Given the description of an element on the screen output the (x, y) to click on. 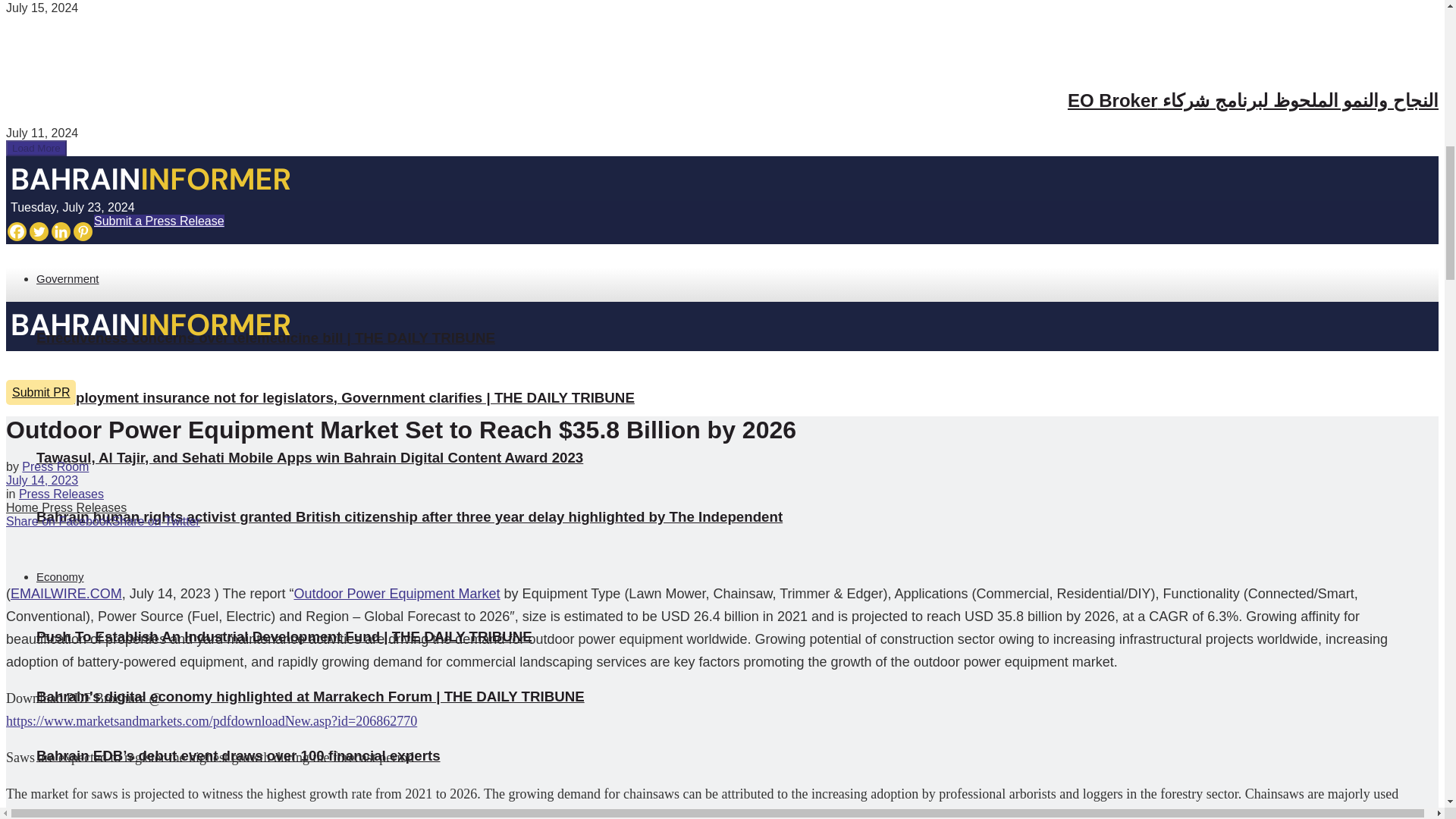
Linkedin (59, 230)
Twitter (38, 230)
Pinterest (83, 230)
Load More (35, 148)
Submit a Press Release (159, 220)
Facebook (16, 230)
Government (67, 278)
